Given the description of an element on the screen output the (x, y) to click on. 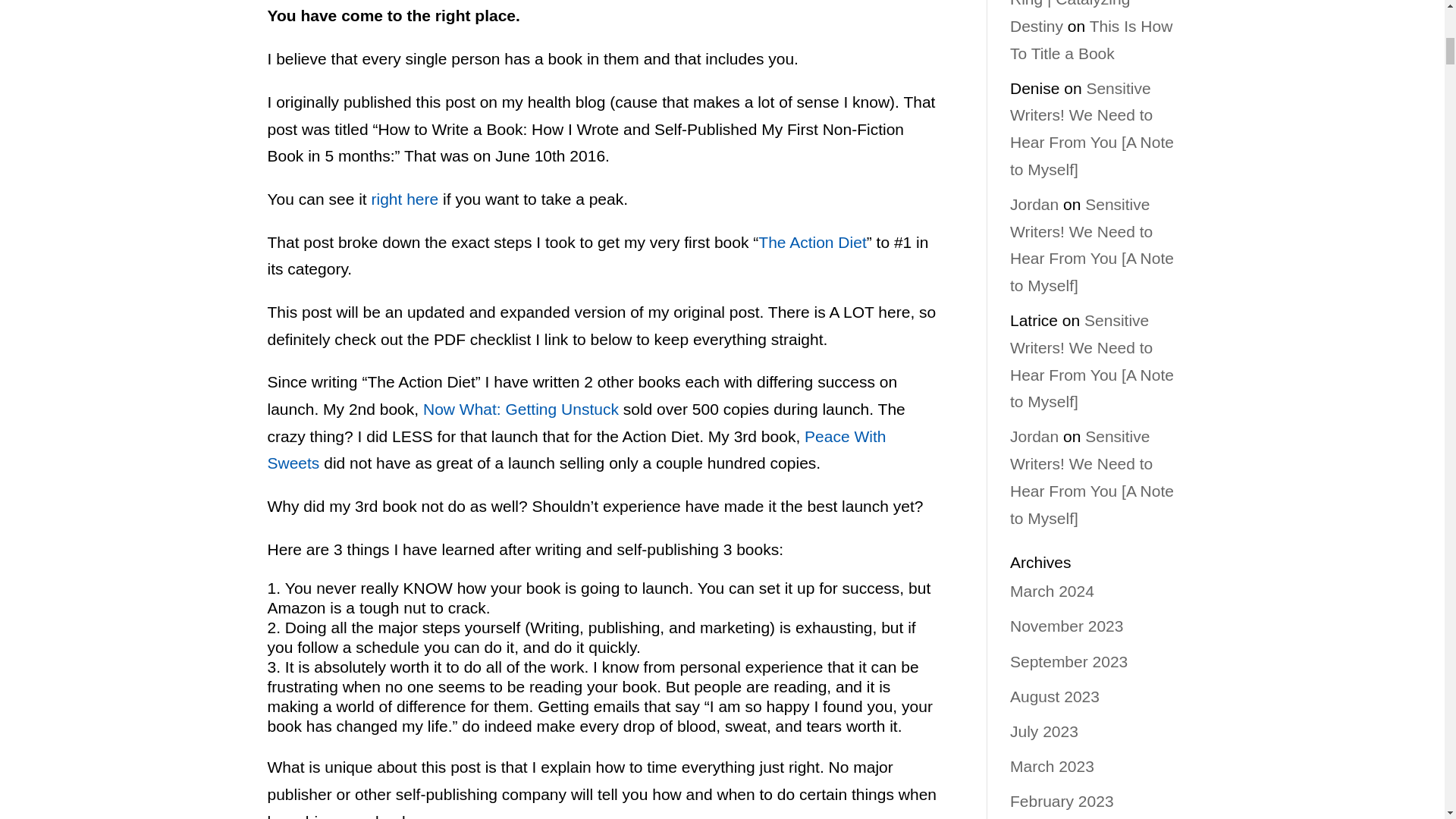
Now What: Getting Unstuck (520, 408)
The Action Diet (812, 241)
right here (407, 199)
Peace With Sweets (575, 449)
